Given the description of an element on the screen output the (x, y) to click on. 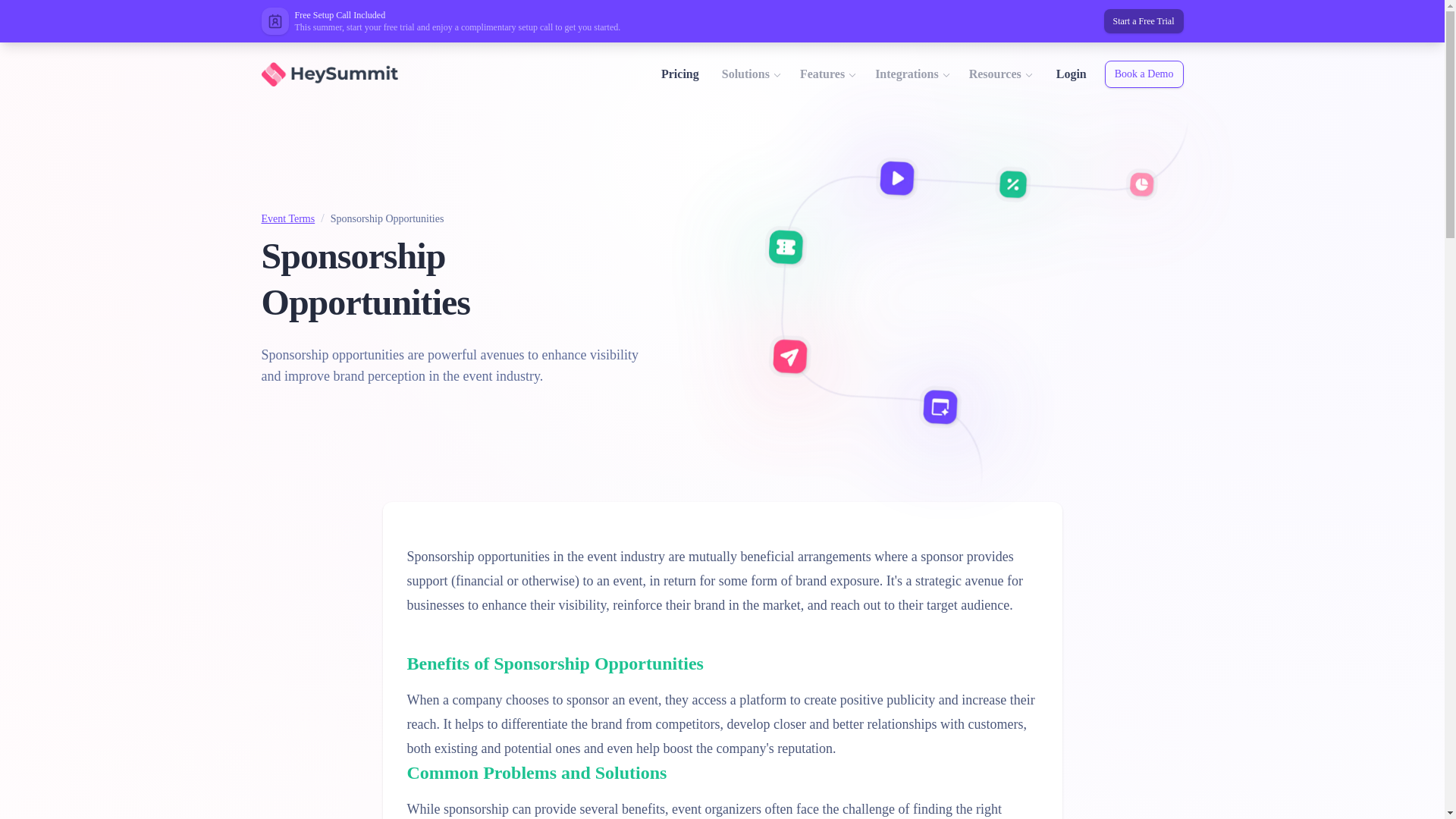
Event Terms (287, 218)
Pricing (680, 73)
HeySummit (328, 73)
Book a Demo (1144, 73)
Features (828, 73)
Integrations (912, 73)
Solutions (751, 73)
Start a Free Trial (1143, 21)
Login (1071, 73)
Resources (1000, 73)
